Given the description of an element on the screen output the (x, y) to click on. 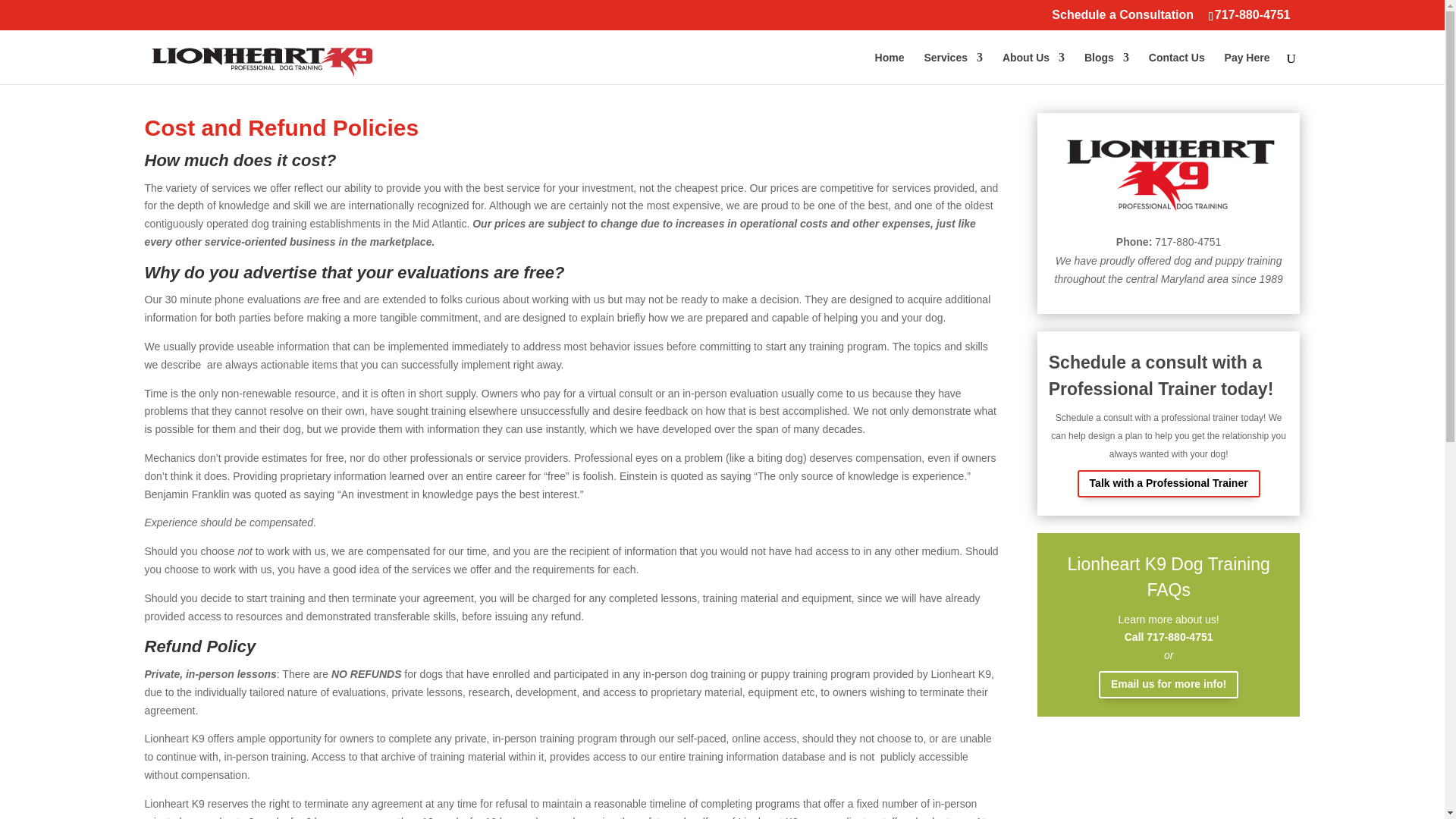
Schedule a Consultation (1122, 19)
Services (952, 68)
Blogs (1106, 68)
Home (889, 68)
About Us (1033, 68)
Contact Us (1176, 68)
Pay Here (1246, 68)
